Given the description of an element on the screen output the (x, y) to click on. 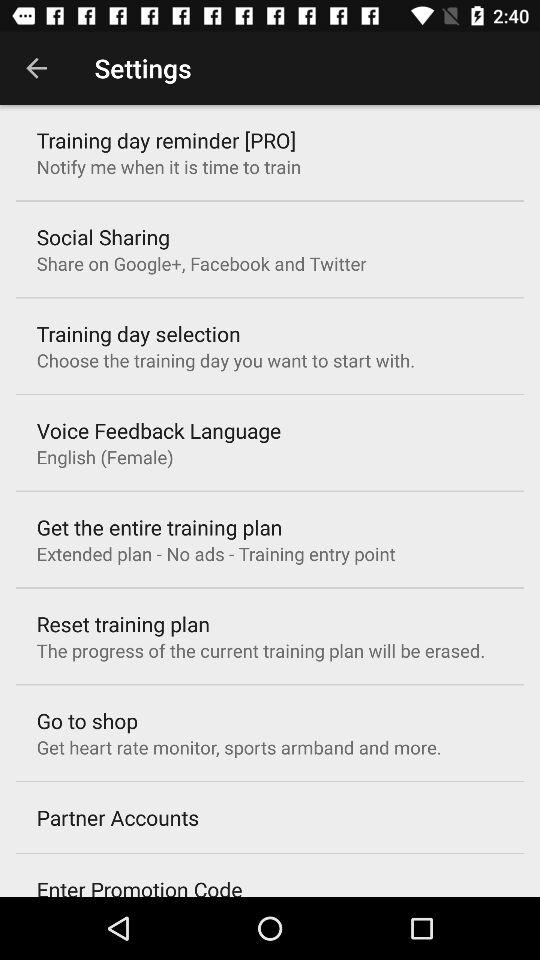
open partner accounts item (117, 817)
